Given the description of an element on the screen output the (x, y) to click on. 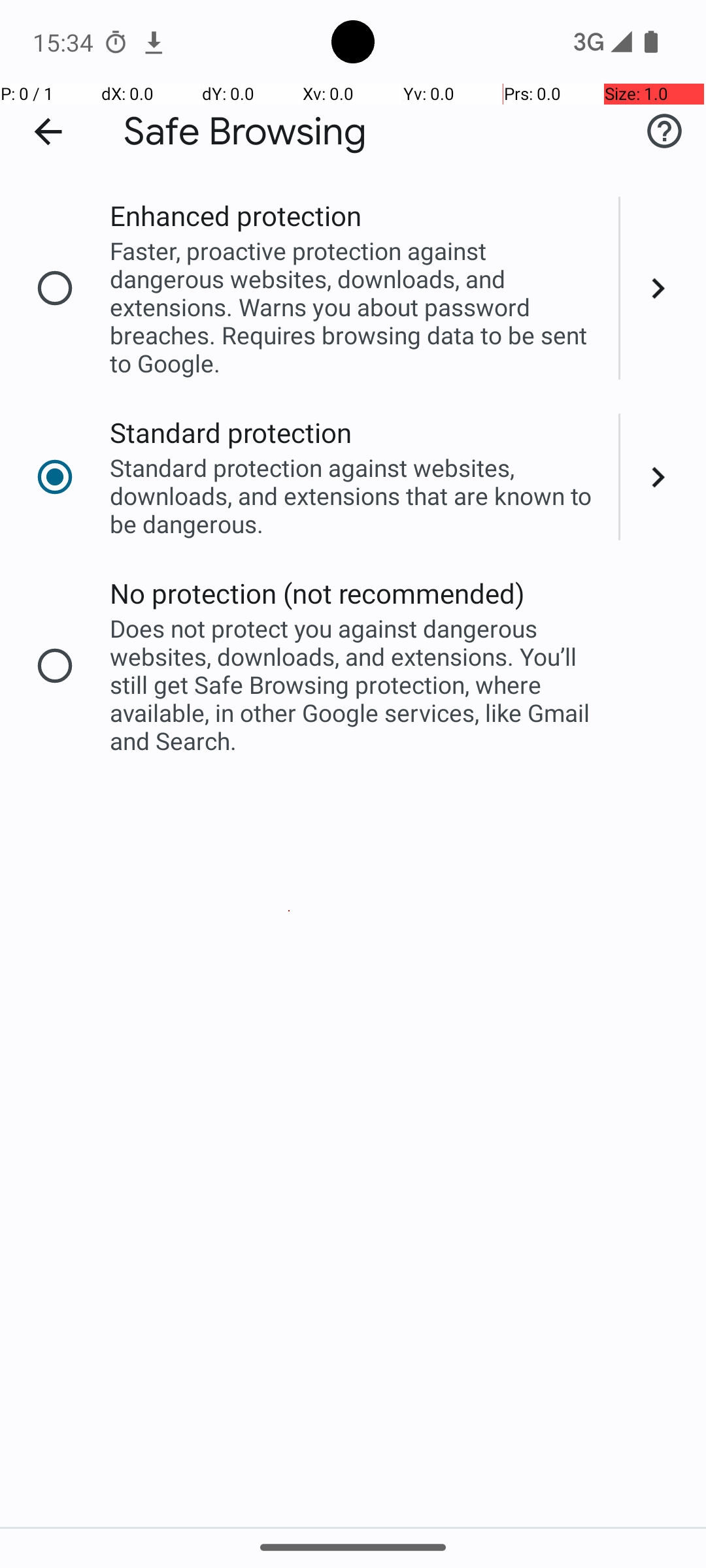
Chrome notification: m.youtube.com Element type: android.widget.ImageView (153, 41)
